Given the description of an element on the screen output the (x, y) to click on. 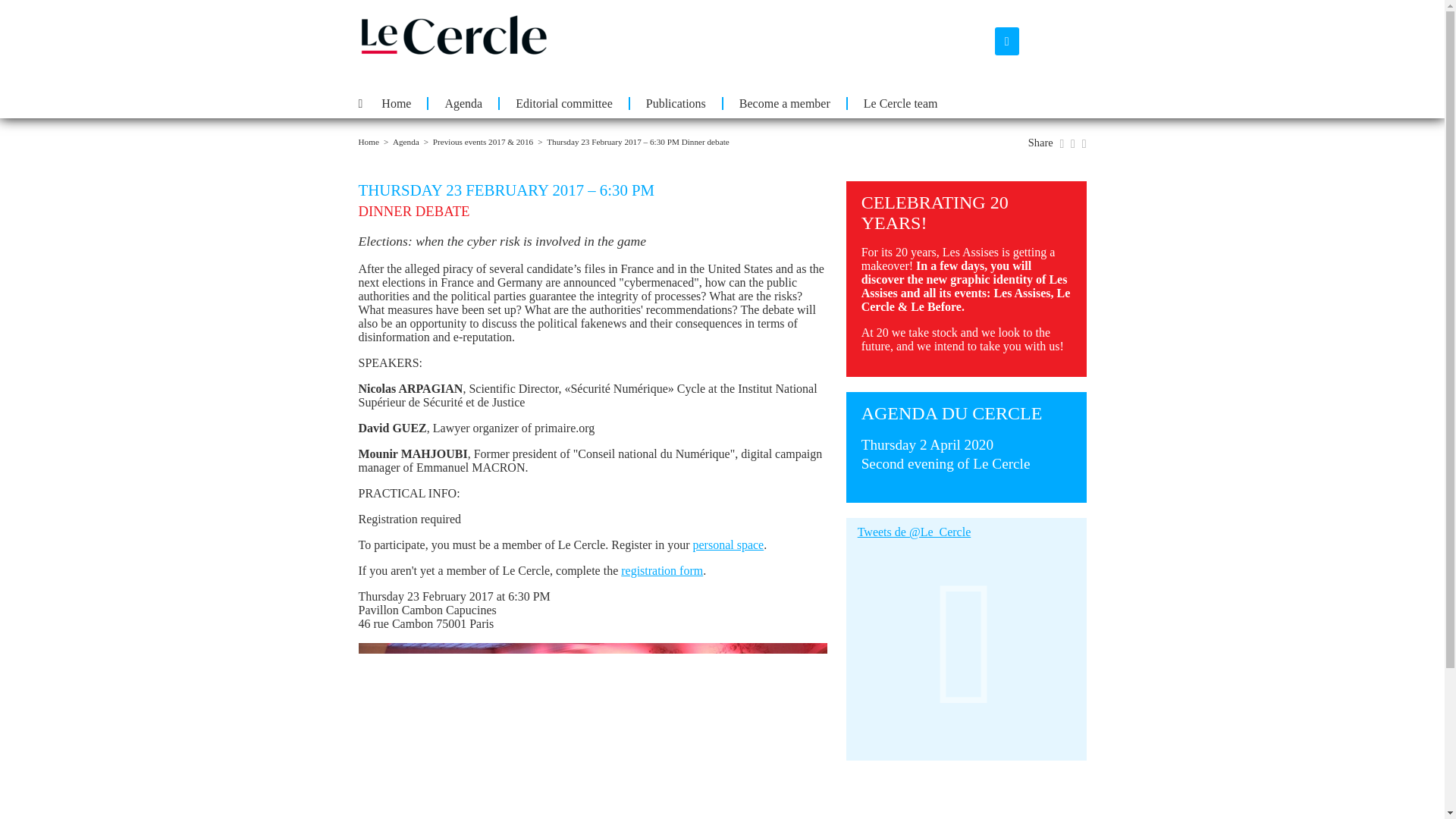
Home (368, 141)
Become a member (783, 103)
registration form (662, 570)
Agenda (461, 103)
personal space (727, 544)
Le Cercle team (899, 103)
Editorial committee (562, 103)
Publications (675, 103)
Agenda (406, 141)
Home (945, 455)
